Given the description of an element on the screen output the (x, y) to click on. 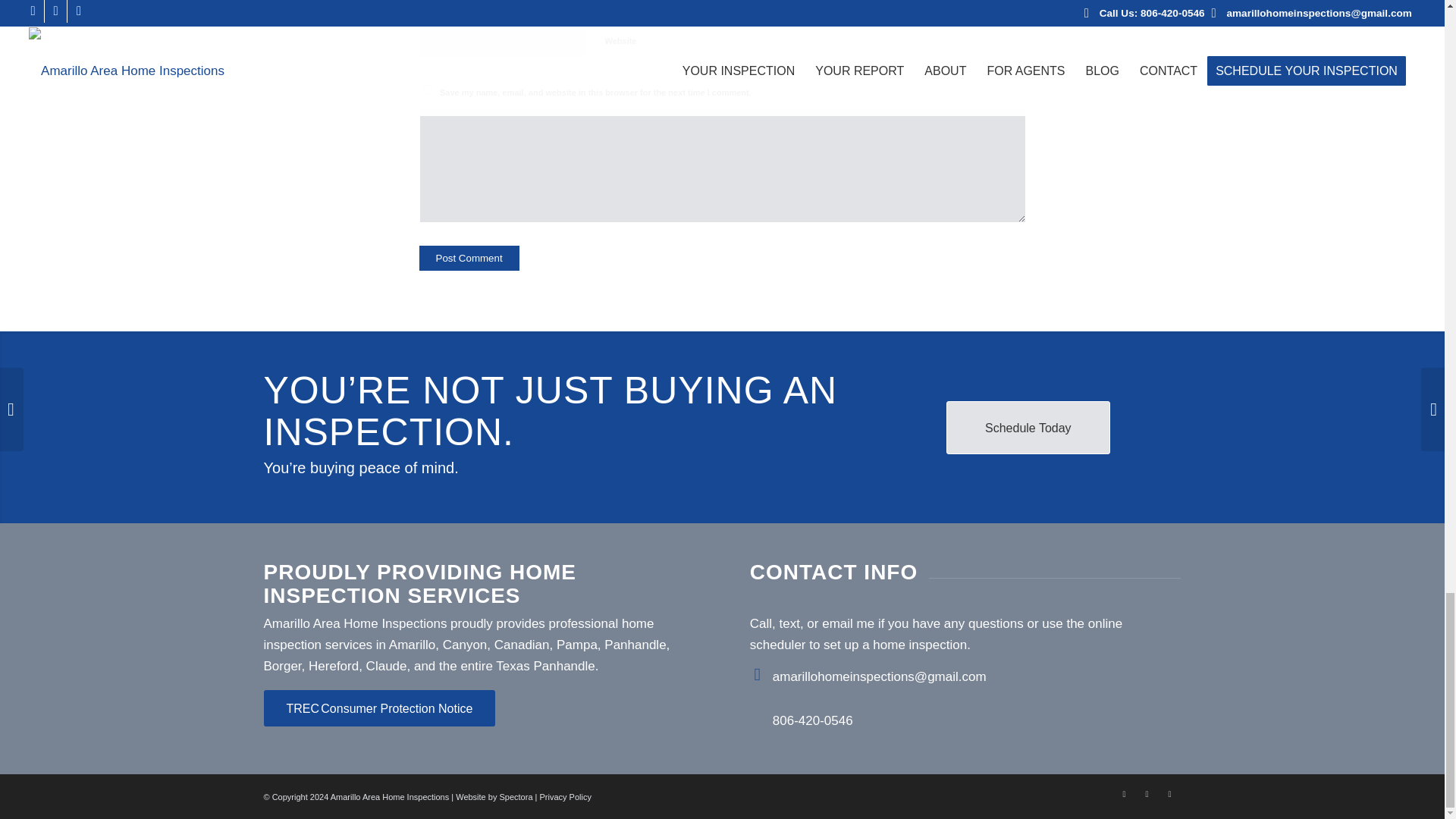
Schedule Today (1027, 427)
Post Comment (468, 258)
yes (426, 90)
Post Comment (468, 258)
Spectora (515, 796)
Privacy Policy (564, 796)
